Given the description of an element on the screen output the (x, y) to click on. 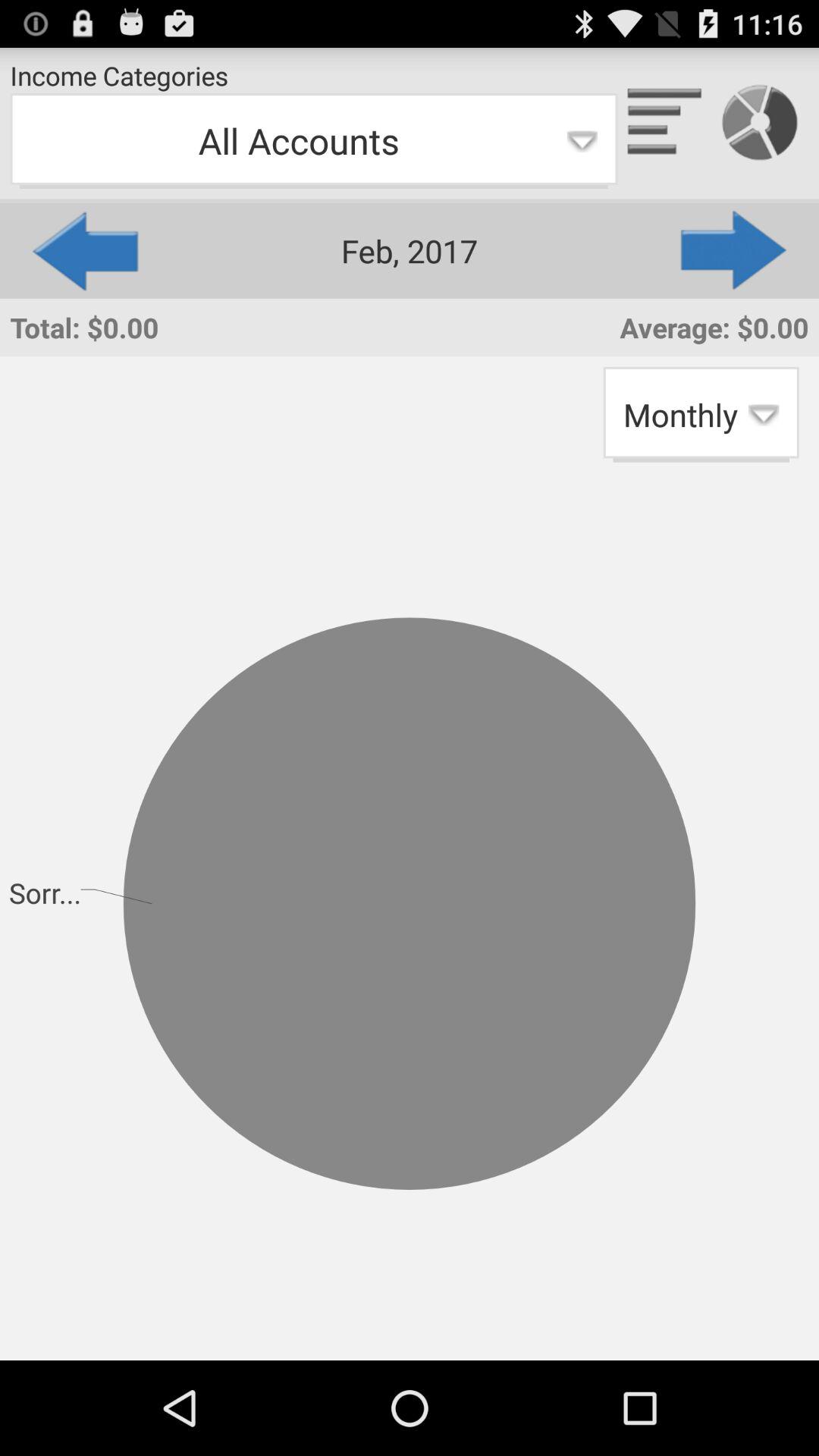
turn off icon to the left of the feb, 2017 app (83, 250)
